Given the description of an element on the screen output the (x, y) to click on. 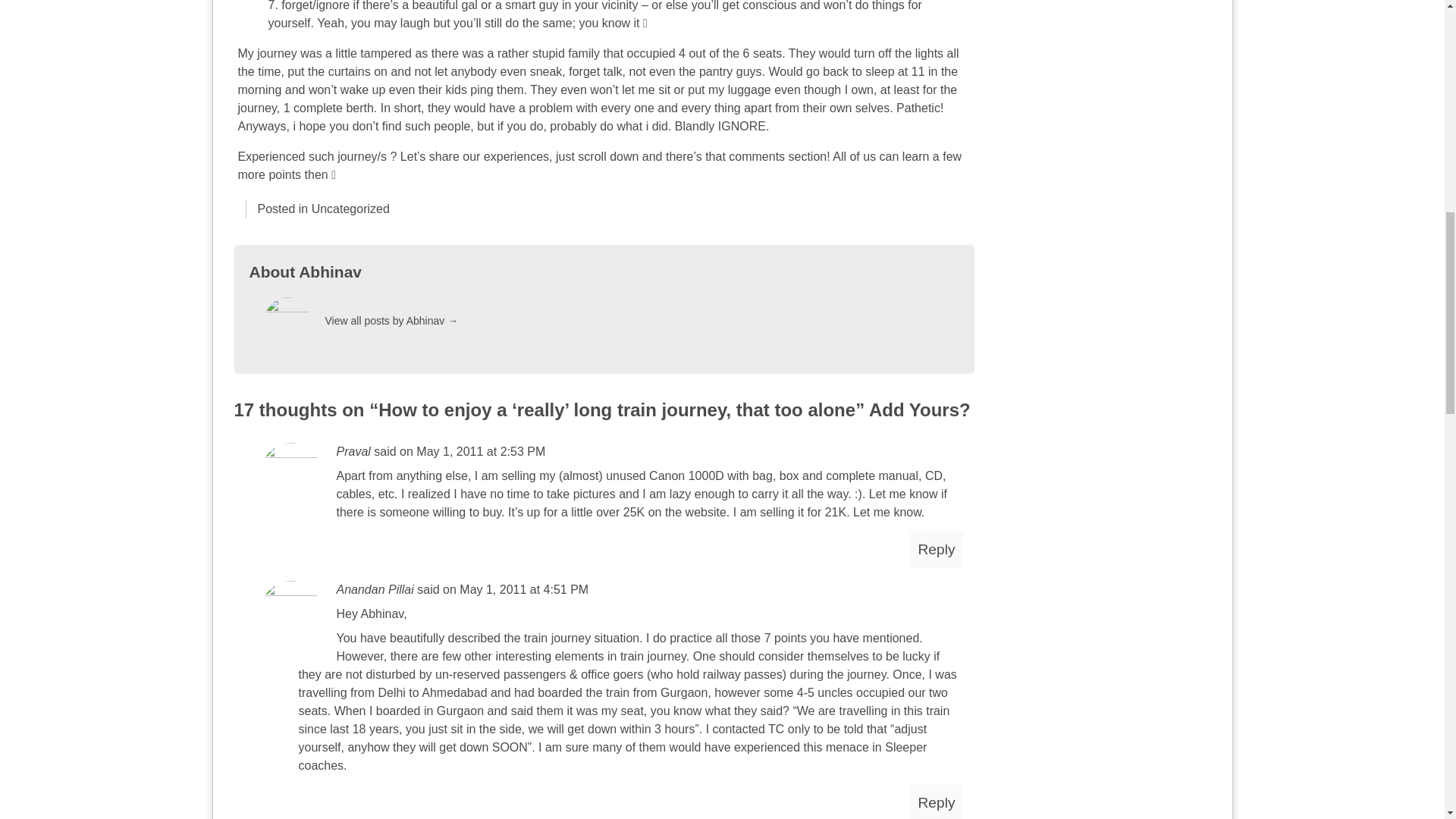
Add Yours? (920, 409)
May 1, 2011 at 4:51 PM (524, 589)
May 1, 2011 at 2:53 PM (480, 451)
Reply (936, 549)
Reply (936, 801)
Anandan Pillai (374, 589)
